Given the description of an element on the screen output the (x, y) to click on. 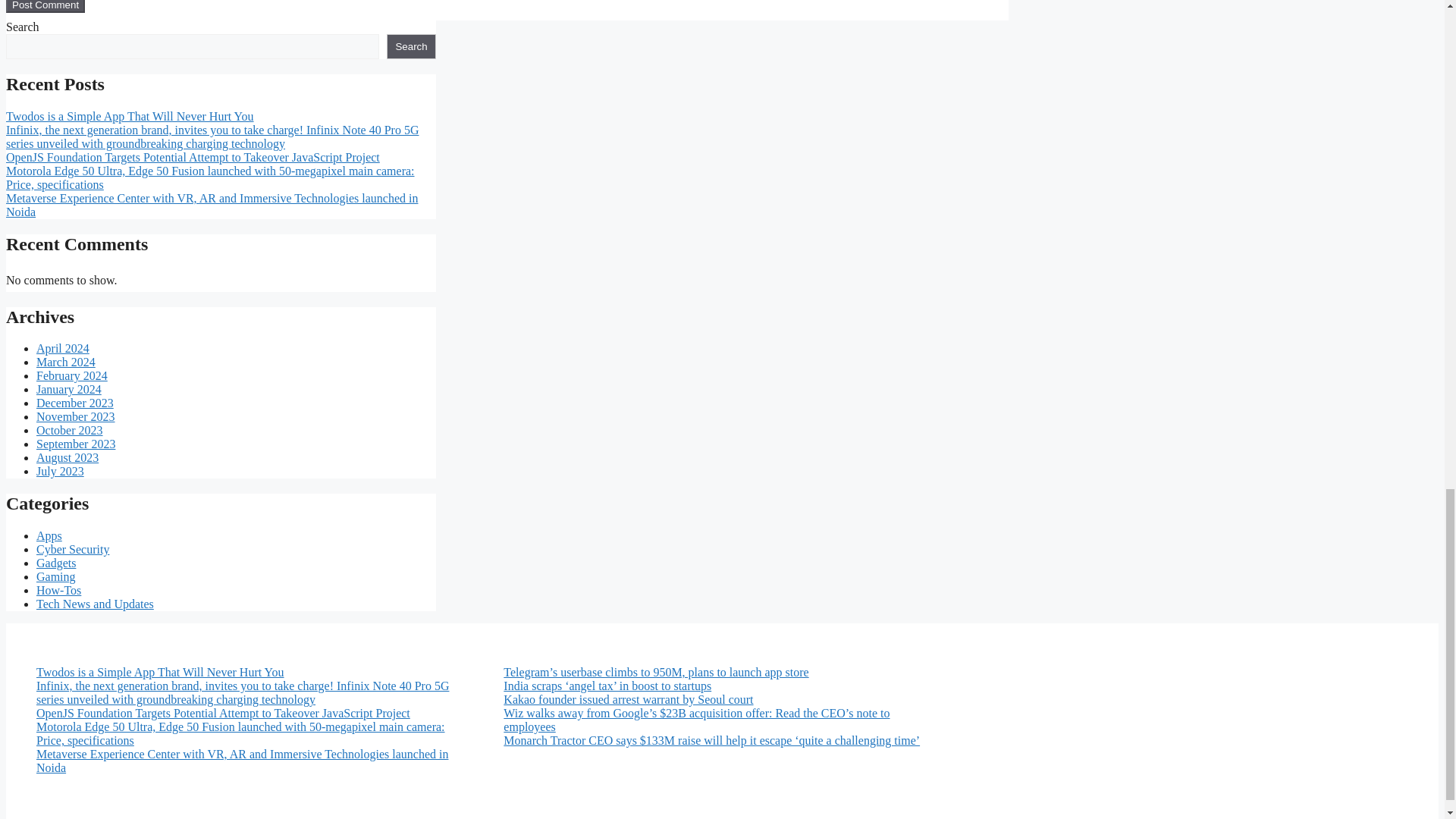
March 2024 (66, 361)
Twodos is a Simple App That Will Never Hurt You (129, 115)
Post Comment (44, 6)
January 2024 (68, 389)
September 2023 (75, 443)
October 2023 (69, 430)
February 2024 (71, 375)
August 2023 (67, 457)
July 2023 (60, 471)
Post Comment (44, 6)
Apps (49, 535)
Scroll back to top (1406, 277)
